Given the description of an element on the screen output the (x, y) to click on. 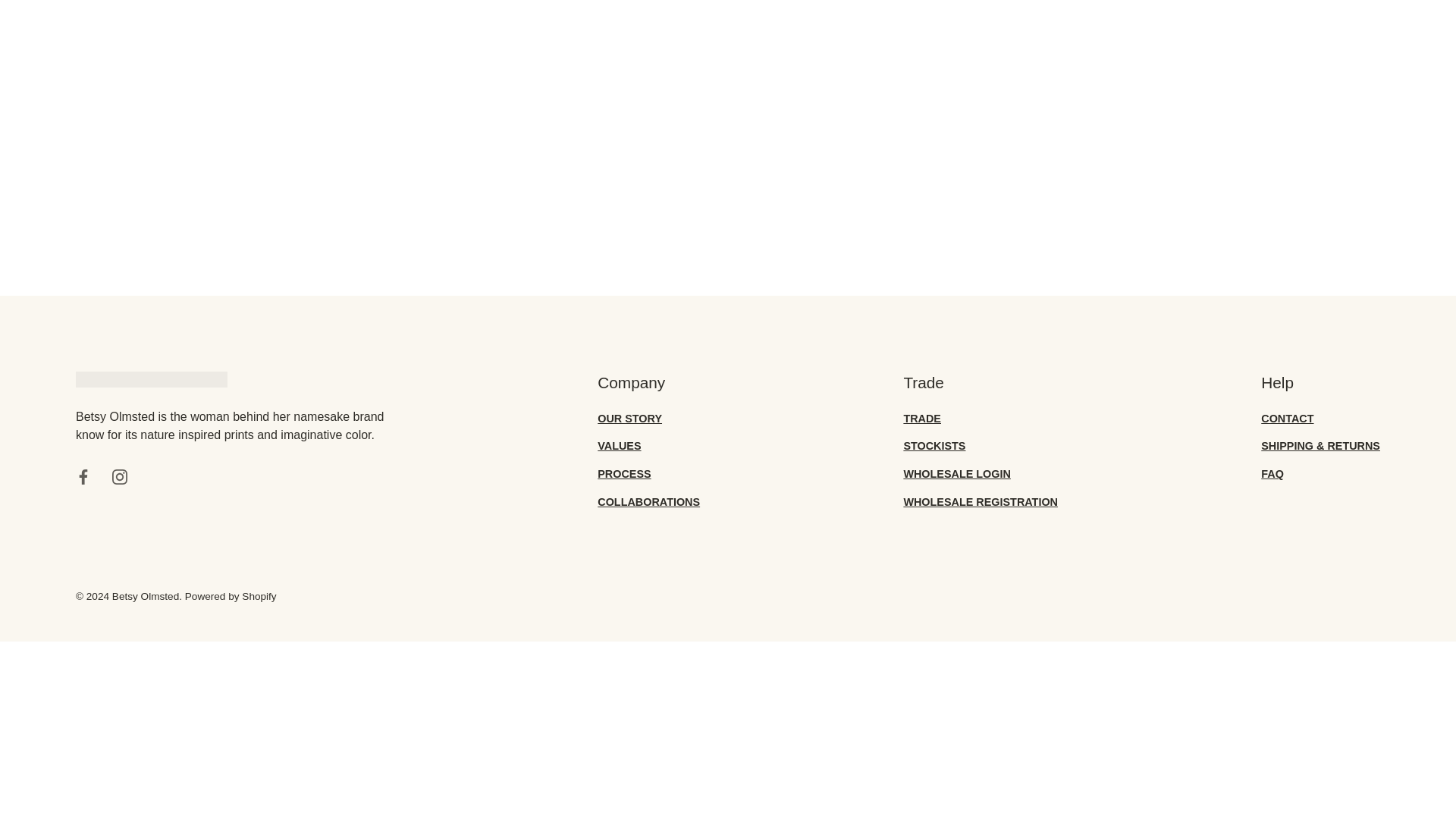
Instagram (120, 476)
